Given the description of an element on the screen output the (x, y) to click on. 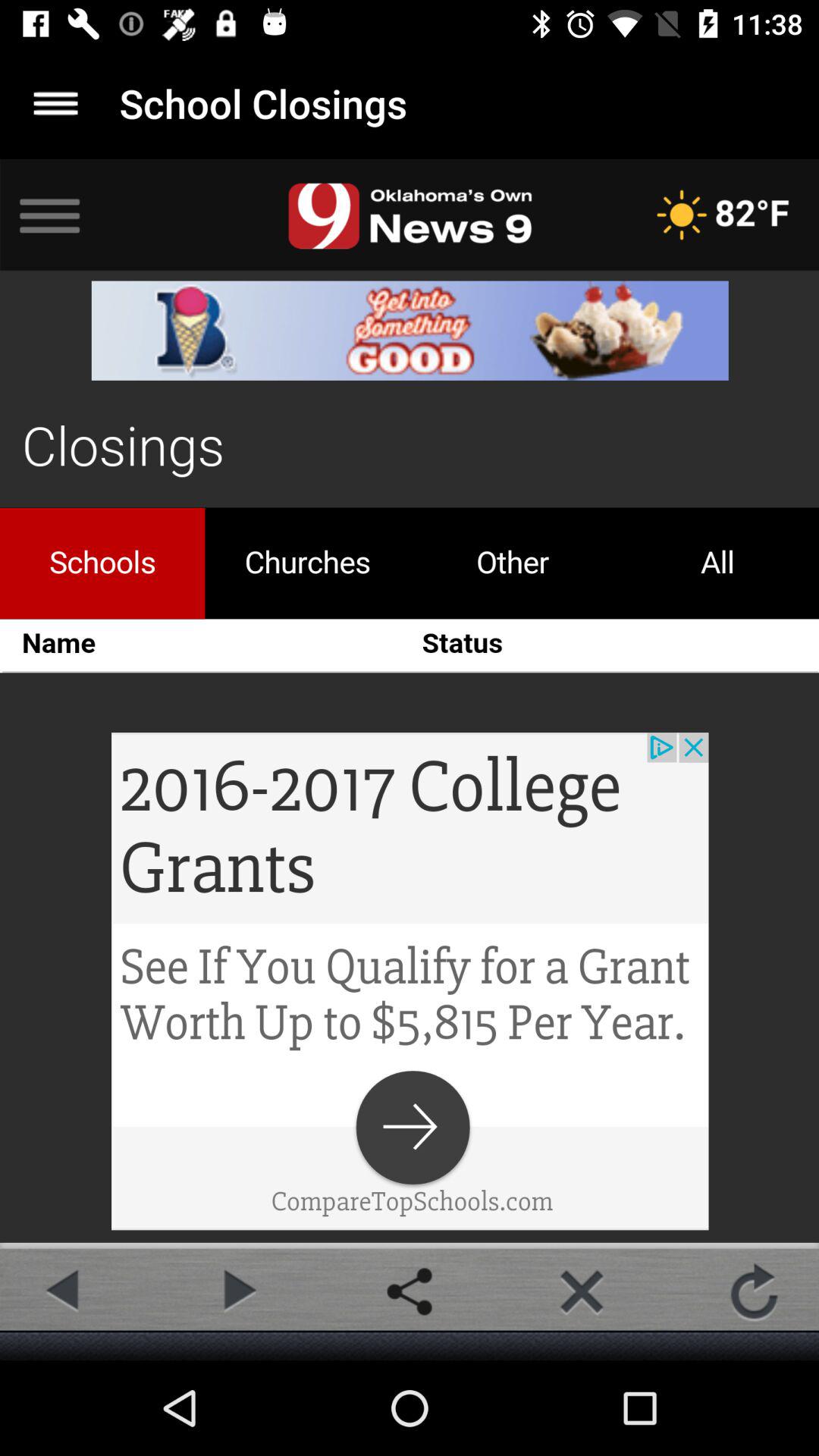
share school closings (409, 1291)
